Given the description of an element on the screen output the (x, y) to click on. 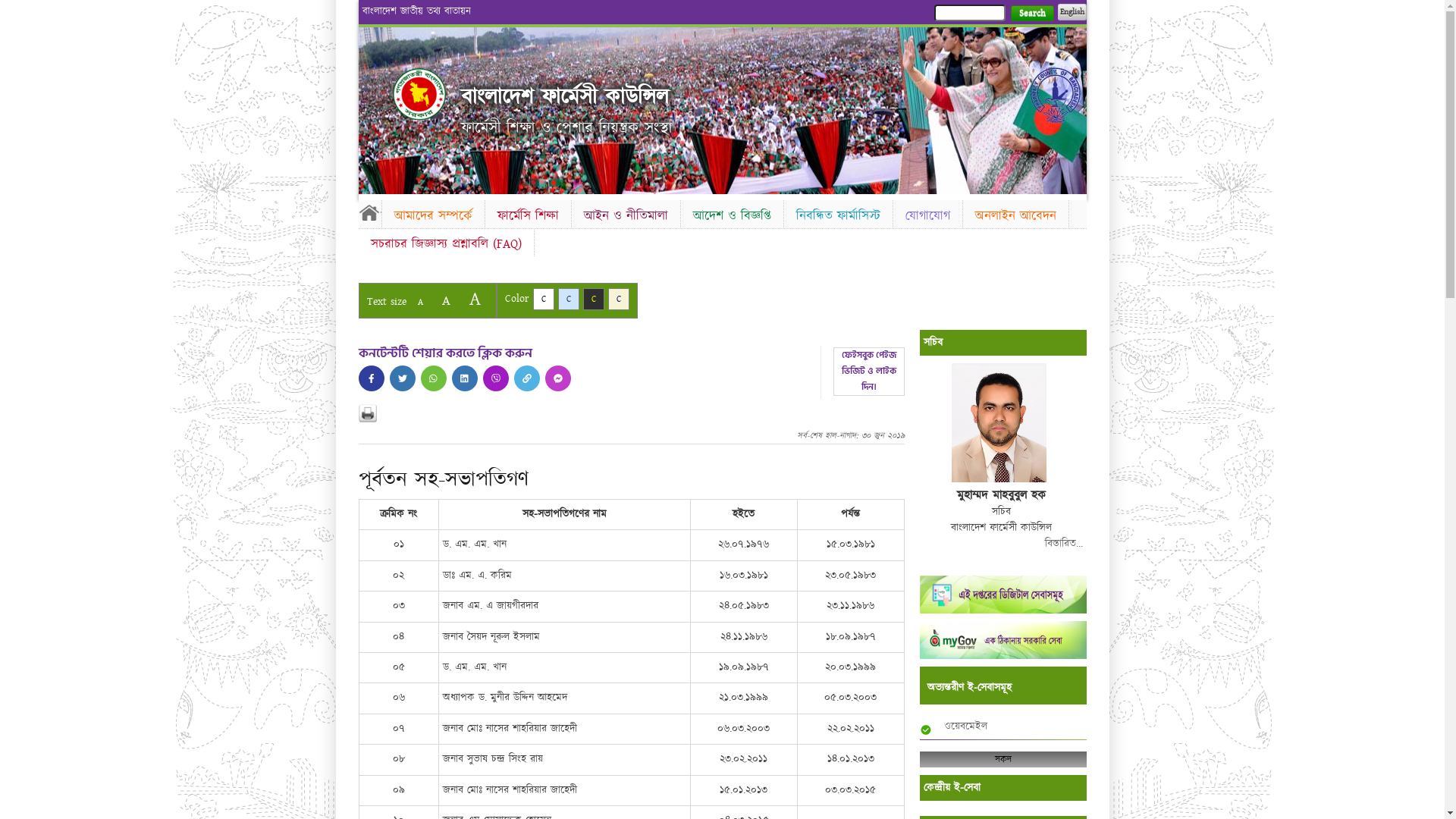
English Element type: text (1071, 11)
A Element type: text (419, 301)
C Element type: text (618, 299)
Search Element type: text (1031, 13)
C Element type: text (568, 299)
A Element type: text (445, 300)
Home Element type: hover (418, 93)
C Element type: text (542, 299)
Home Element type: hover (368, 211)
A Element type: text (474, 298)
C Element type: text (592, 299)
